Given the description of an element on the screen output the (x, y) to click on. 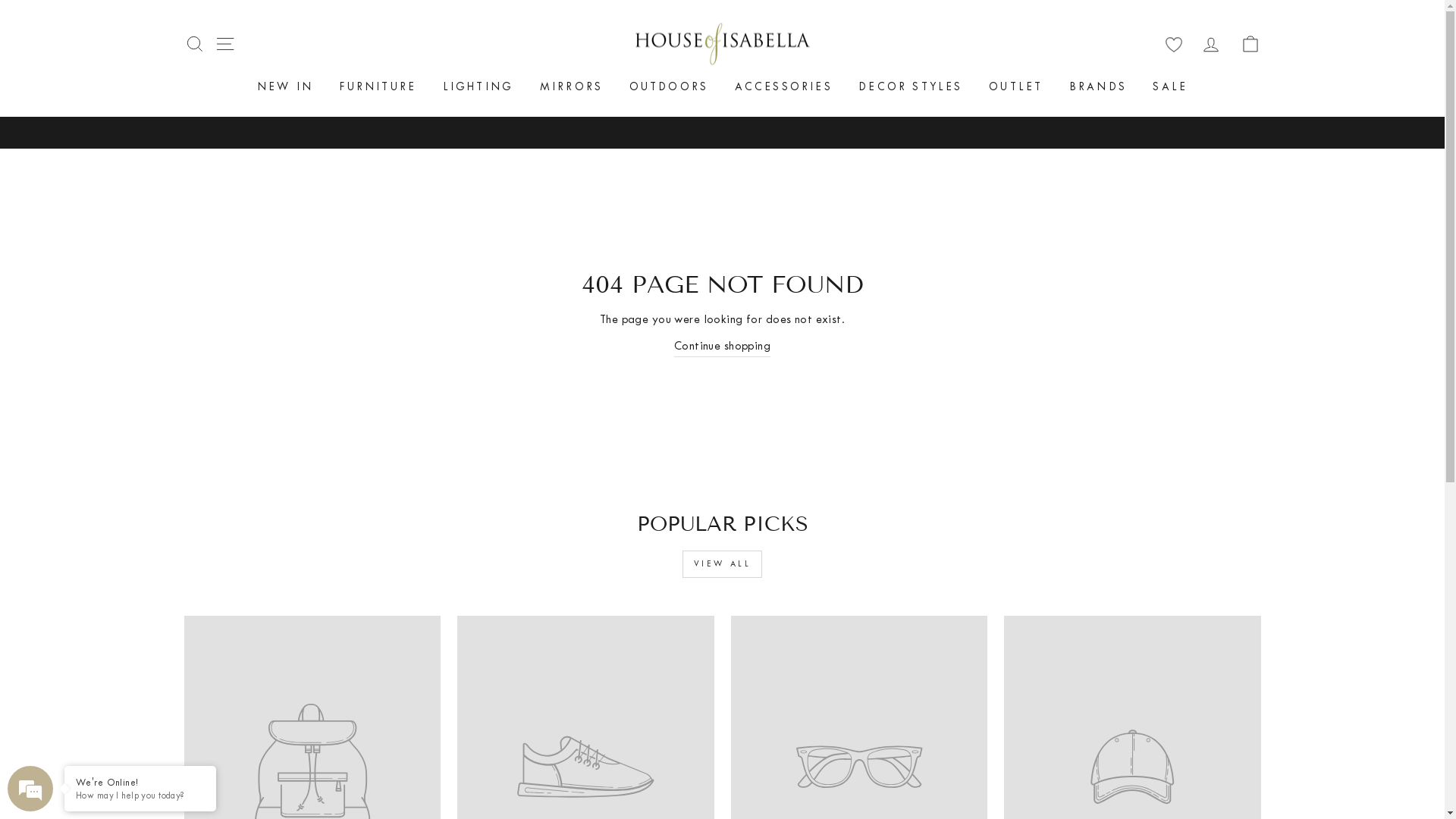
OUTDOORS Element type: text (669, 86)
SITE NAVIGATION Element type: text (224, 43)
FURNITURE Element type: text (377, 86)
CART Element type: text (1249, 43)
OUTLET Element type: text (1015, 86)
LOG IN Element type: text (1210, 43)
VIEW ALL Element type: text (722, 563)
ACCESSORIES Element type: text (783, 86)
Continue shopping Element type: text (722, 346)
LIGHTING Element type: text (478, 86)
DECOR STYLES Element type: text (910, 86)
SALE Element type: text (1169, 86)
MIRRORS Element type: text (571, 86)
wishlist Element type: hover (1172, 43)
BRANDS Element type: text (1097, 86)
NEW IN Element type: text (284, 86)
SEARCH Element type: text (193, 43)
